Given the description of an element on the screen output the (x, y) to click on. 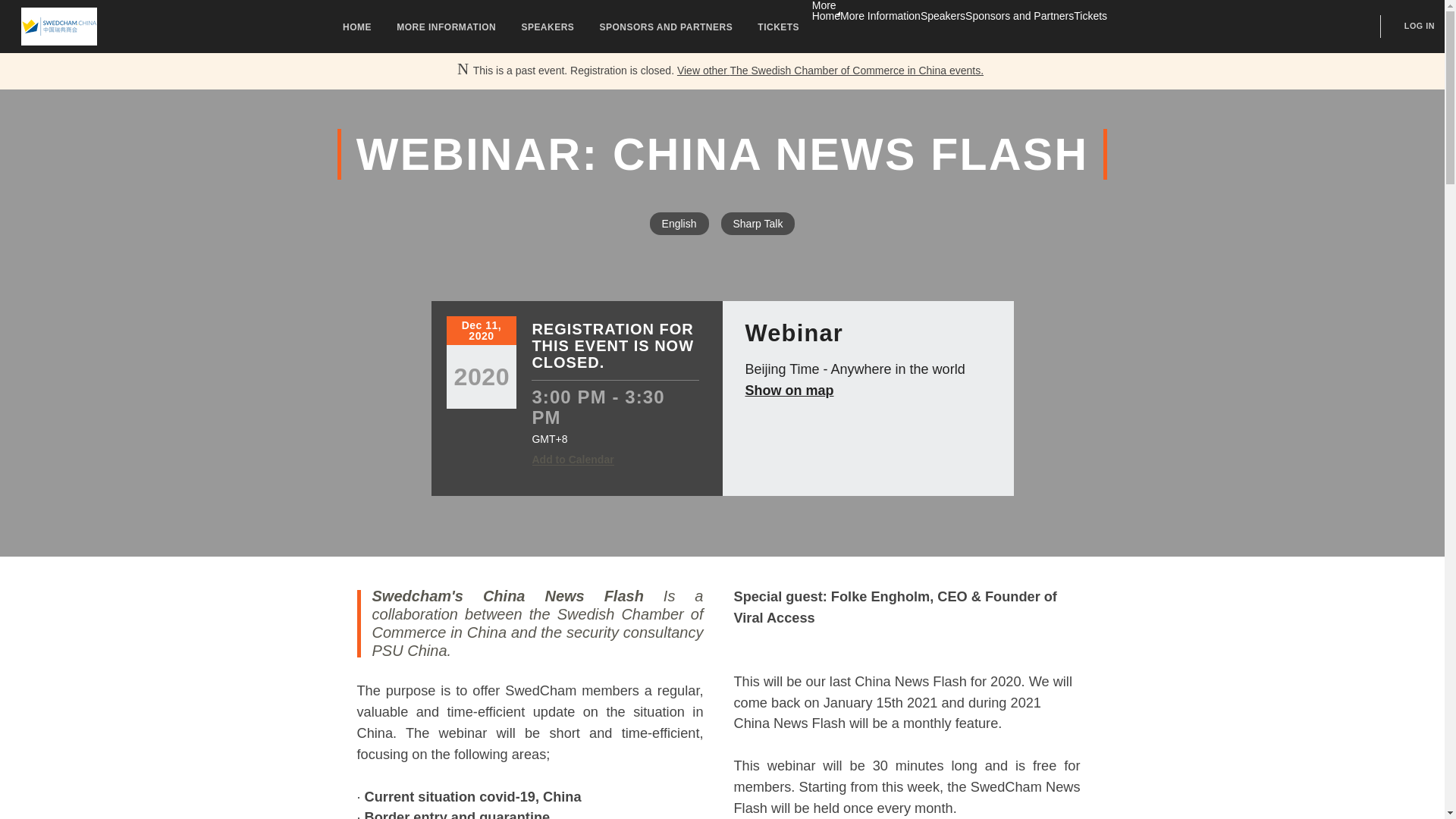
Home (826, 15)
SPONSORS AND PARTNERS (666, 25)
Sponsors and Partners (1019, 15)
More Information (880, 15)
Tickets (1090, 15)
View other The Swedish Chamber of Commerce in China events. (830, 70)
Speakers (942, 15)
MORE INFORMATION (446, 25)
SPEAKERS (547, 25)
Add to Calendar (573, 460)
